Given the description of an element on the screen output the (x, y) to click on. 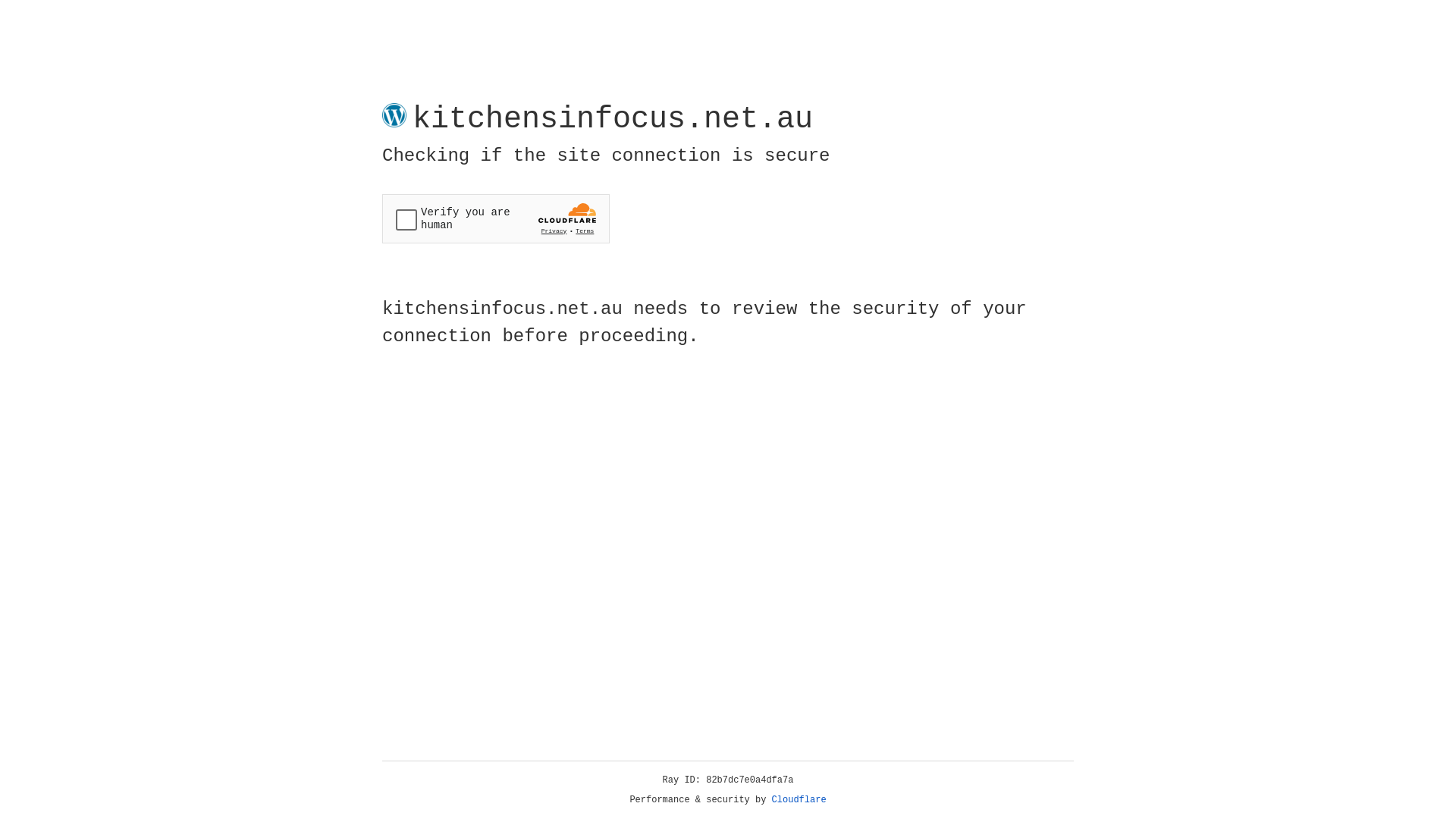
Widget containing a Cloudflare security challenge Element type: hover (495, 218)
Cloudflare Element type: text (798, 799)
